Given the description of an element on the screen output the (x, y) to click on. 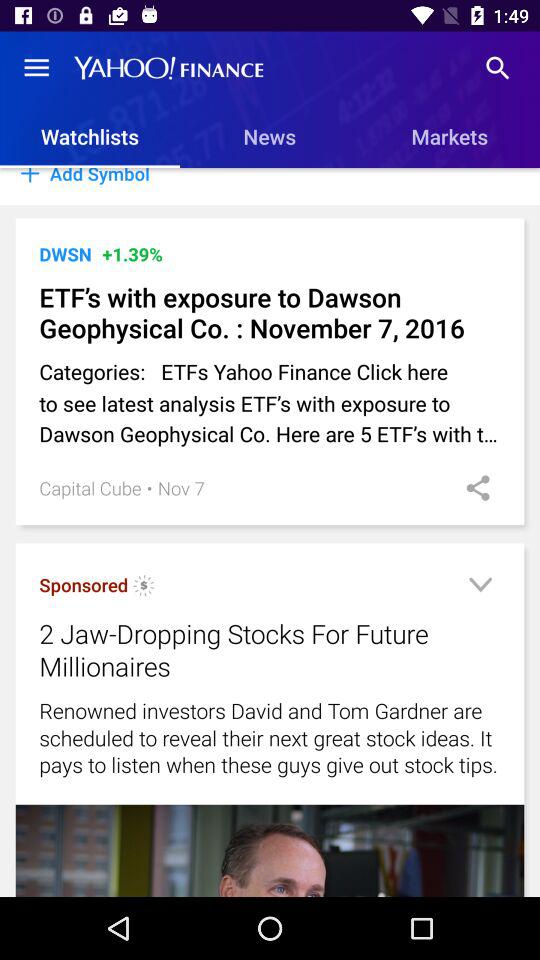
turn on icon next to the +1.39% icon (65, 253)
